Given the description of an element on the screen output the (x, y) to click on. 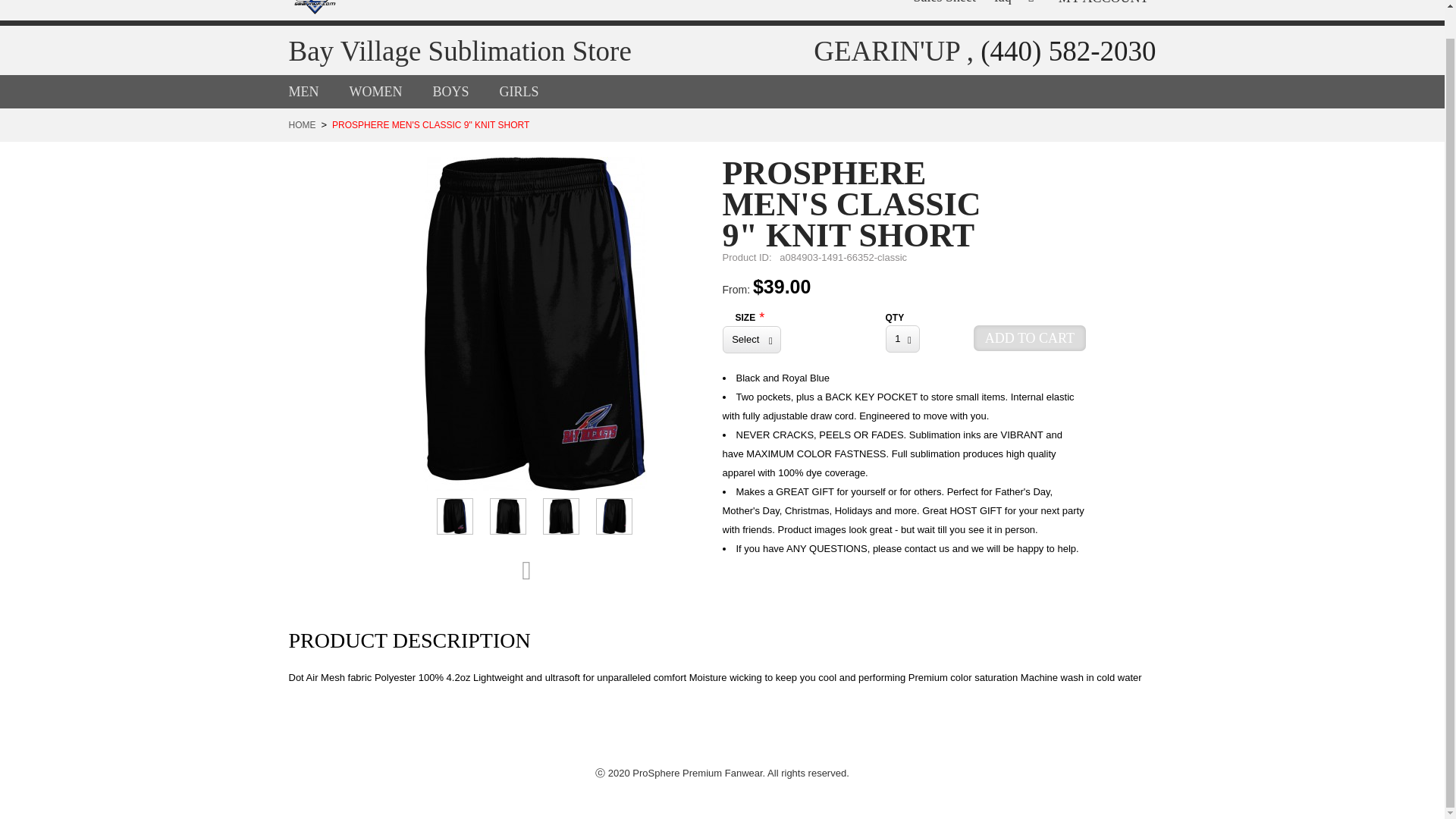
Email to a Friend (534, 571)
BOYS (465, 91)
GIRLS (534, 91)
faq (1002, 3)
ProSphere Men's Classic 9" Knit Short (613, 515)
Email to a Friend (534, 571)
ProSphere Men's Classic 9" Knit Short (534, 323)
Sales Sheet (951, 3)
MEN (318, 91)
Go to Home Page (301, 124)
MY ACCOUNT (1103, 2)
ADD TO CART (1030, 338)
WOMEN (390, 91)
Add to Cart (1030, 338)
ProSphere Men's Classic 9" Knit Short (507, 515)
